Given the description of an element on the screen output the (x, y) to click on. 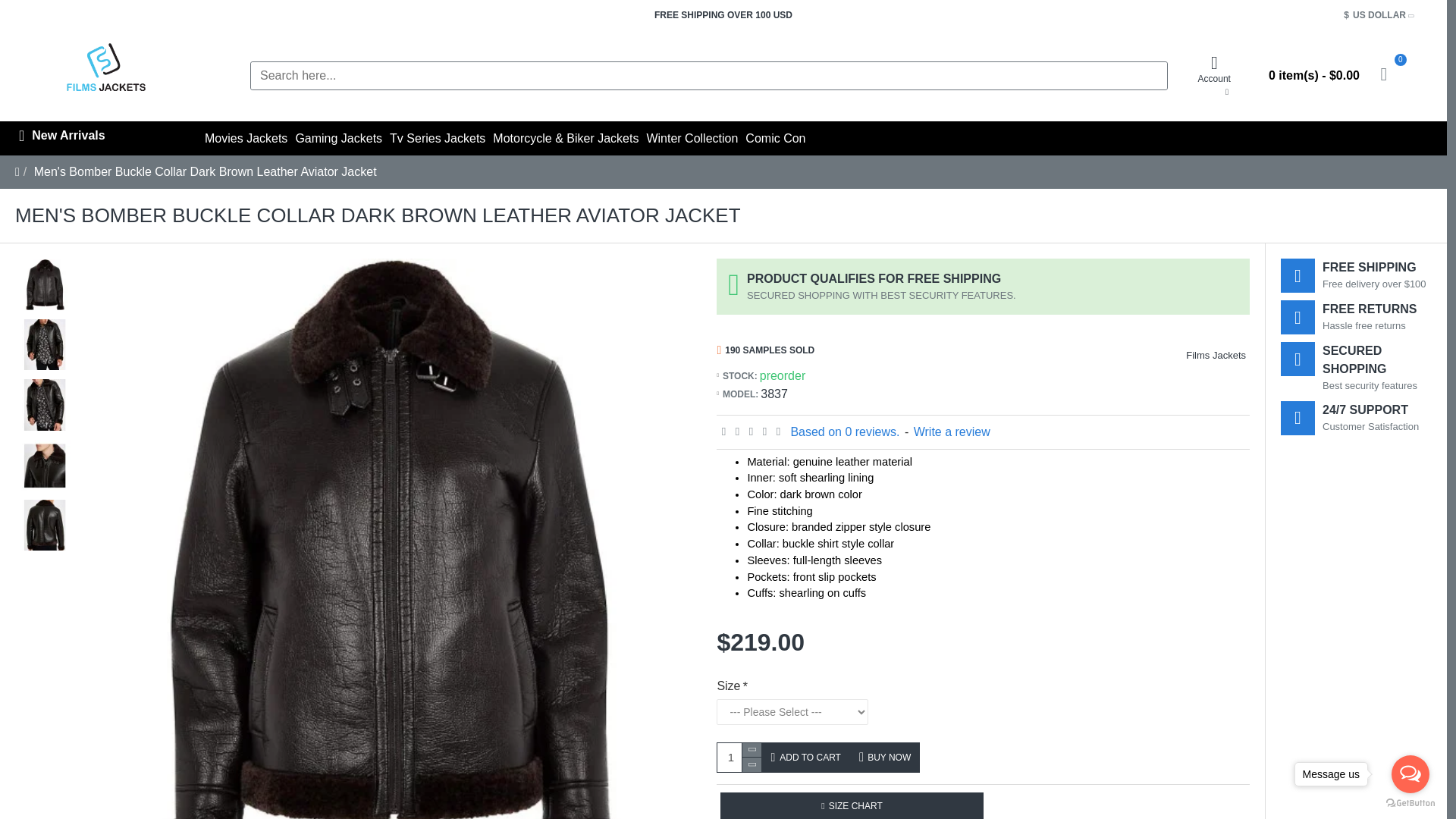
1 (739, 757)
Comic Con (775, 138)
Filmsjackets (106, 75)
Movies Jackets (236, 138)
Tv Series Jackets (437, 138)
New Arrivals (98, 137)
FREE SHIPPING OVER 100 USD (723, 15)
Men's Bomber Buckle Collar Dark Brown Leather Aviator Jacket (44, 404)
Men's Bomber Buckle Collar Dark Brown Leather Aviator Jacket (205, 171)
Men's Bomber Buckle Collar Dark Brown Leather Aviator Jacket (44, 344)
Men's Bomber Buckle Collar Dark Brown Leather Aviator Jacket (44, 464)
Winter Collection (691, 138)
Men's Bomber Buckle Collar Dark Brown Leather Aviator Jacket (44, 524)
